Given the description of an element on the screen output the (x, y) to click on. 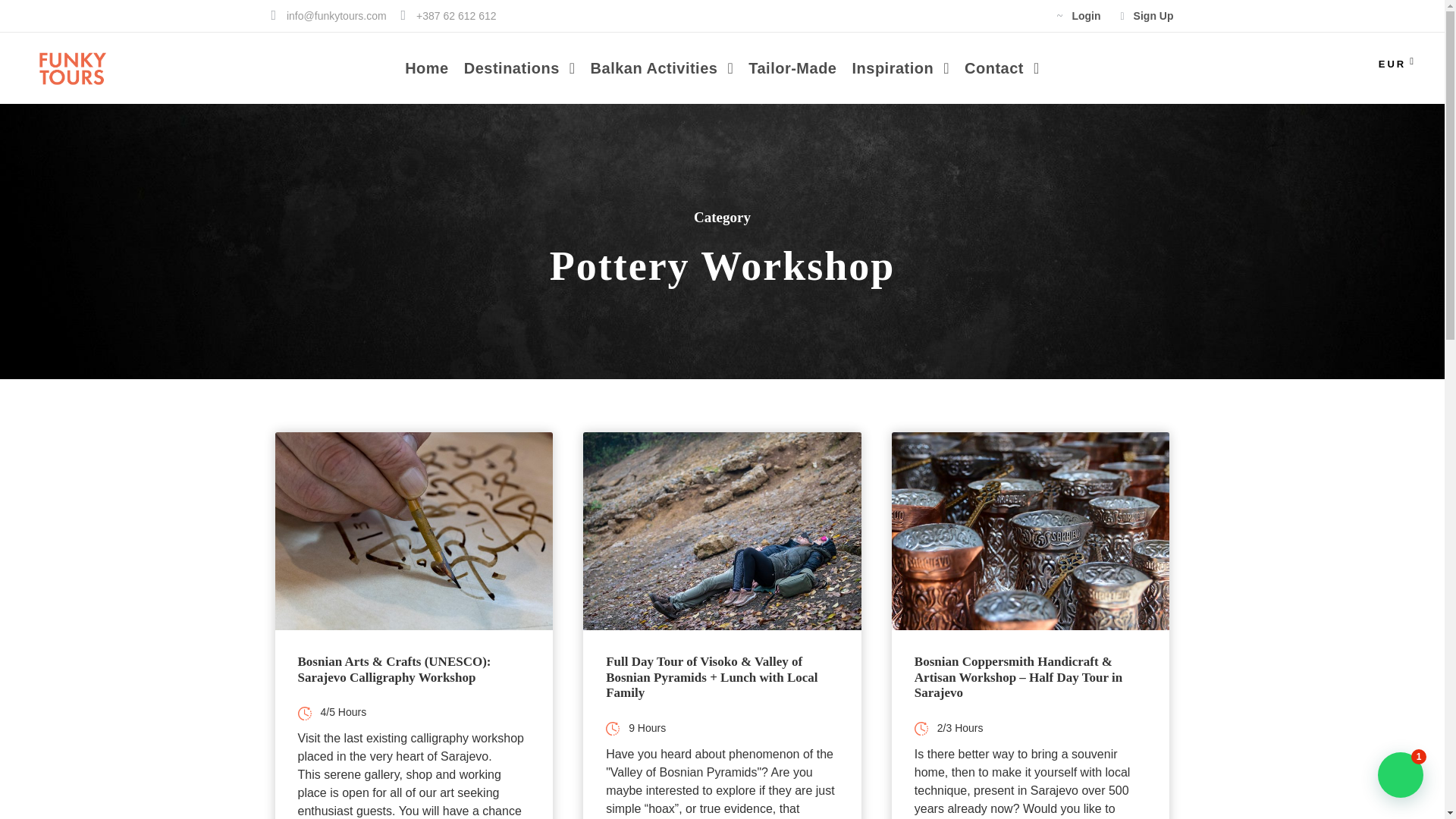
Home (426, 79)
Funky Tours (71, 69)
Login (1078, 15)
Balkan Activities (662, 79)
Sign Up (1146, 15)
Destinations (519, 79)
